Given the description of an element on the screen output the (x, y) to click on. 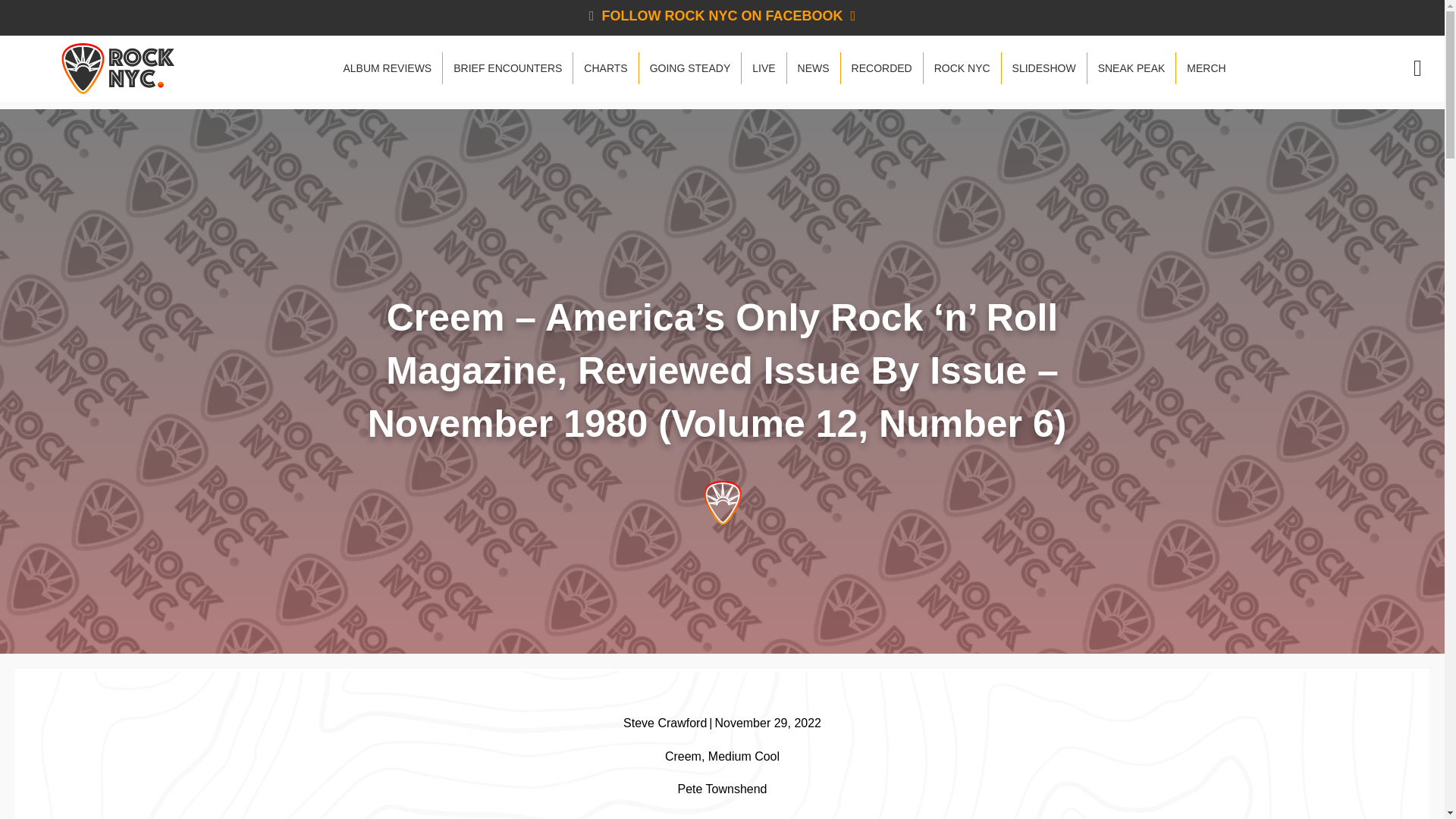
GOING STEADY (690, 68)
RECORDED (882, 68)
ROCK NYC (962, 68)
SLIDESHOW (1043, 68)
SNEAK PEAK (1131, 68)
Steve Crawford (664, 722)
ALBUM REVIEWS (386, 68)
 FOLLOW ROCK NYC ON FACEBOOK   (722, 15)
NEWS (813, 68)
BRIEF ENCOUNTERS (507, 68)
